Given the description of an element on the screen output the (x, y) to click on. 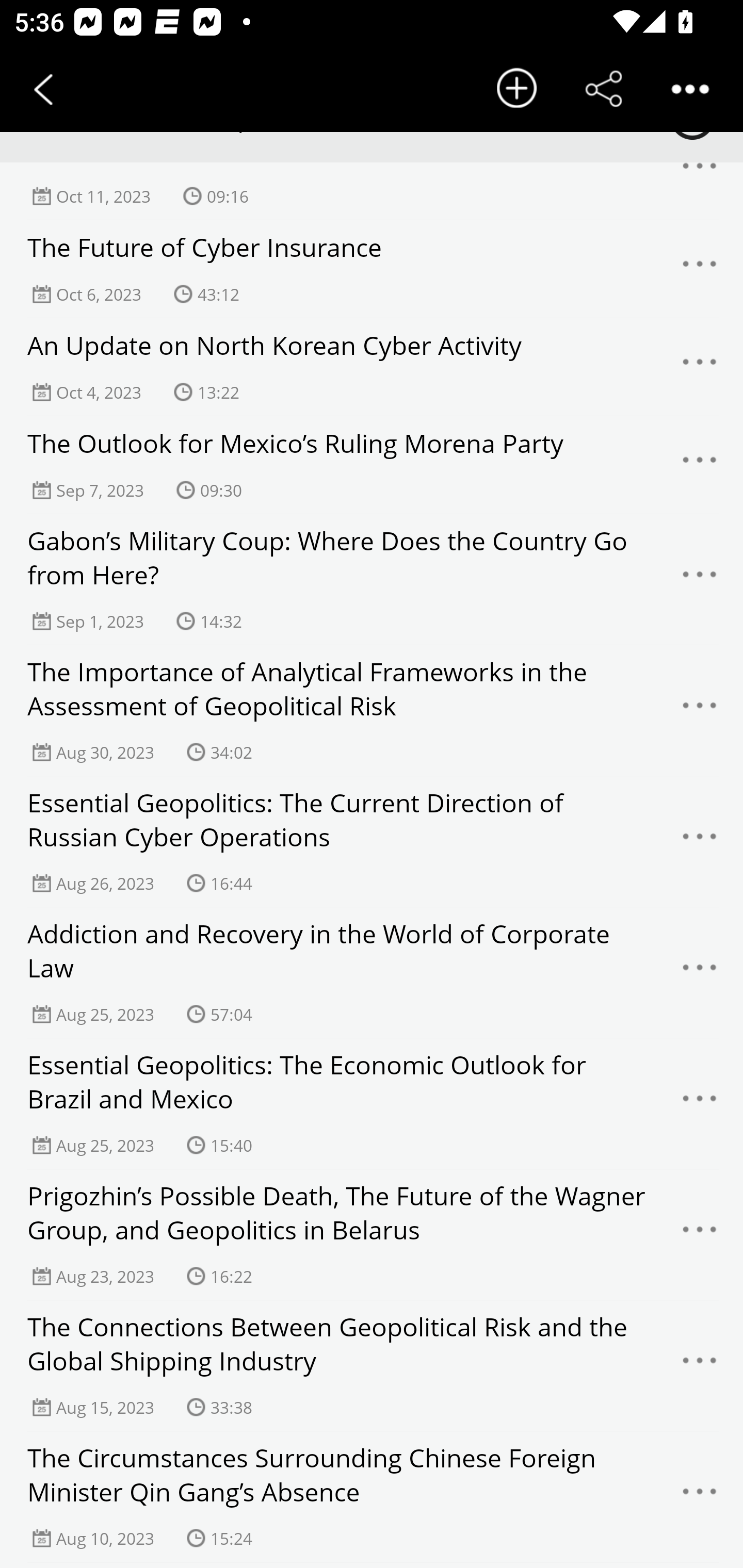
Back (43, 88)
Menu (699, 268)
Menu (699, 367)
Menu (699, 464)
Menu (699, 579)
Menu (699, 710)
Menu (699, 841)
Menu (699, 972)
Menu (699, 1103)
Menu (699, 1234)
Menu (699, 1365)
Menu (699, 1496)
